Given the description of an element on the screen output the (x, y) to click on. 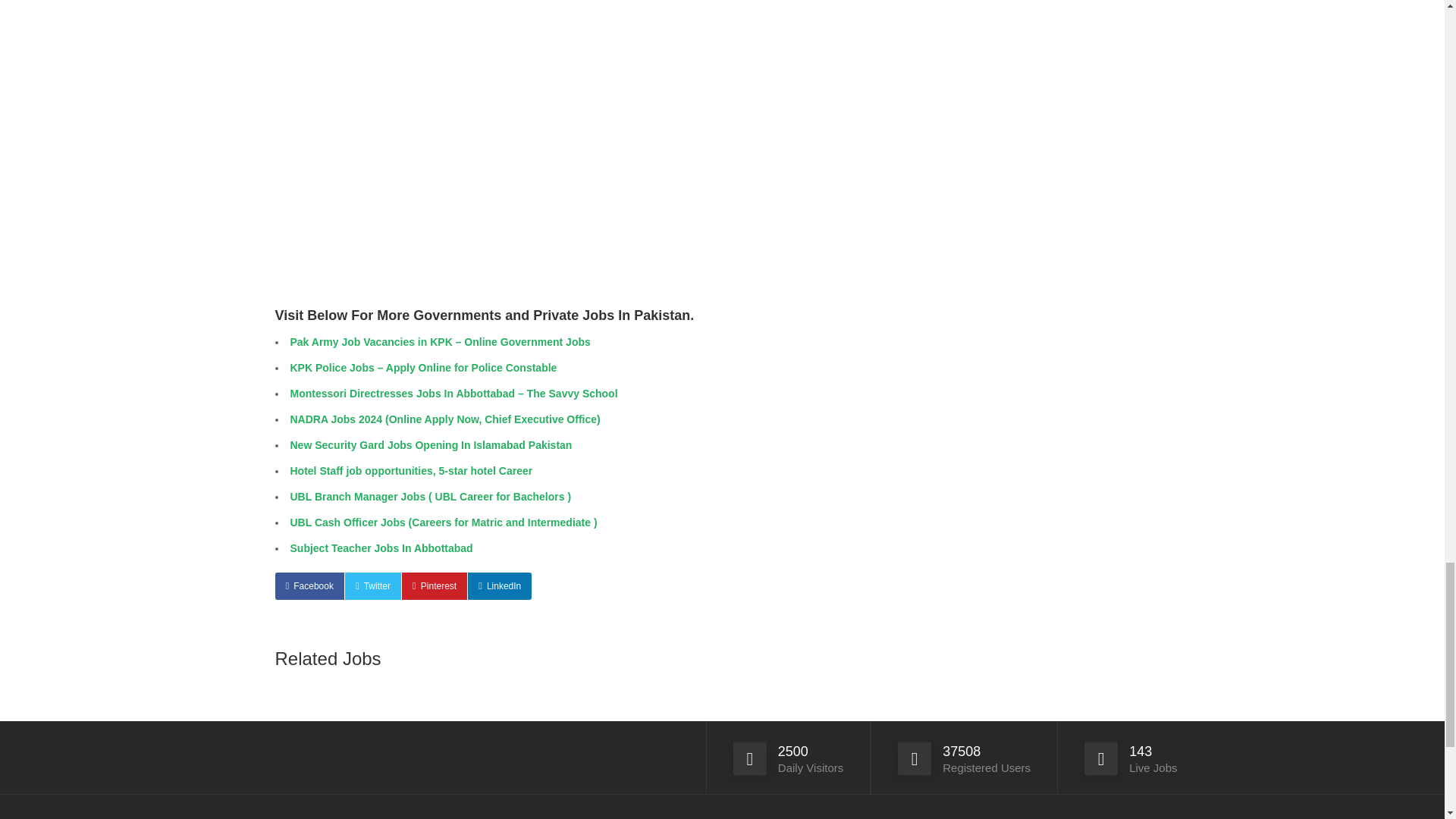
Twitter (373, 585)
Pinterest (434, 585)
Twitter (373, 585)
Hotel Staff job opportunities, 5-star hotel Career (410, 470)
Facebook (309, 585)
New Security Gard Jobs Opening In Islamabad Pakistan (430, 444)
LinkedIn (499, 585)
Subject Teacher Jobs In Abbottabad (380, 548)
